Given the description of an element on the screen output the (x, y) to click on. 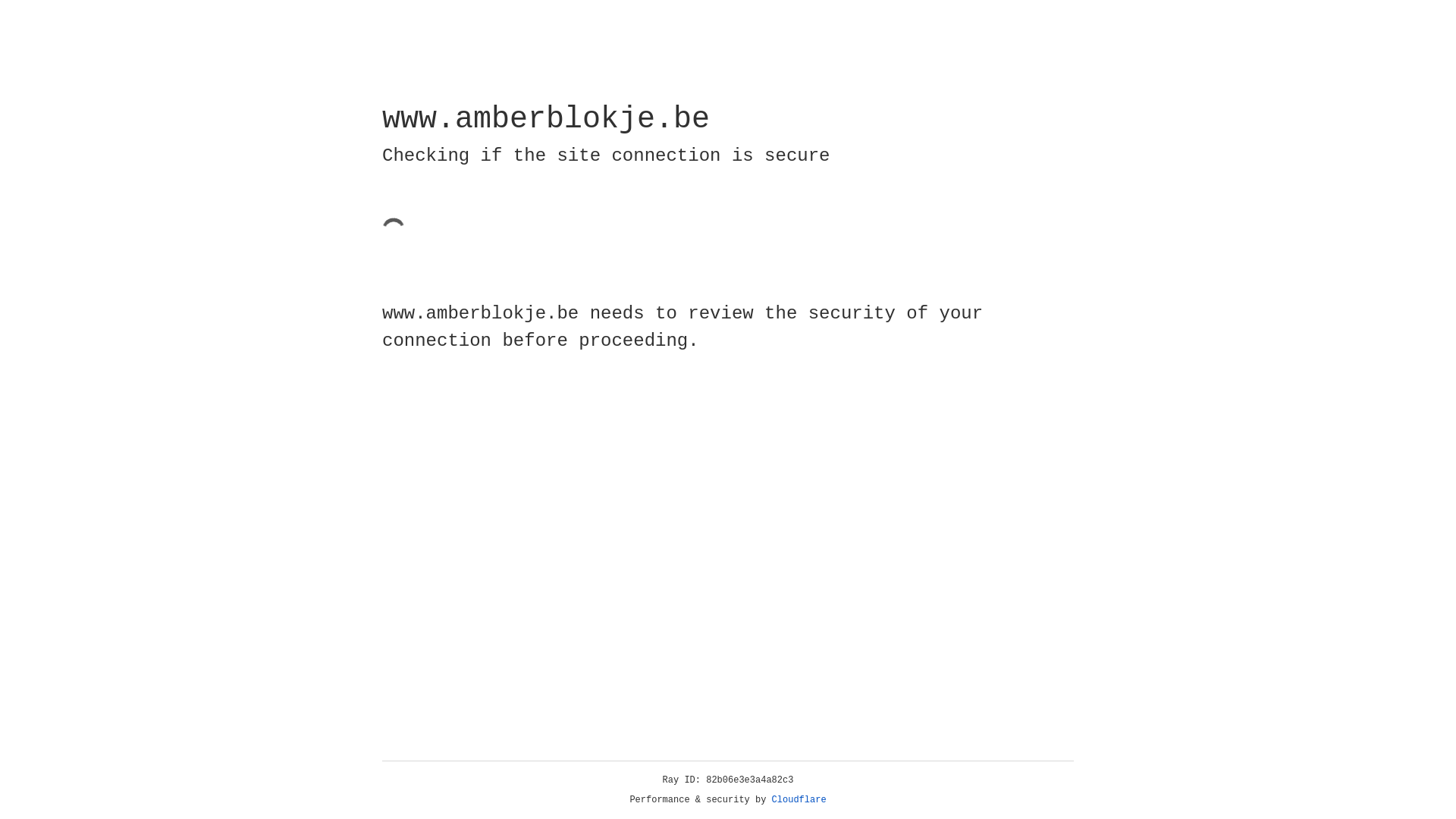
Cloudflare Element type: text (798, 799)
